Given the description of an element on the screen output the (x, y) to click on. 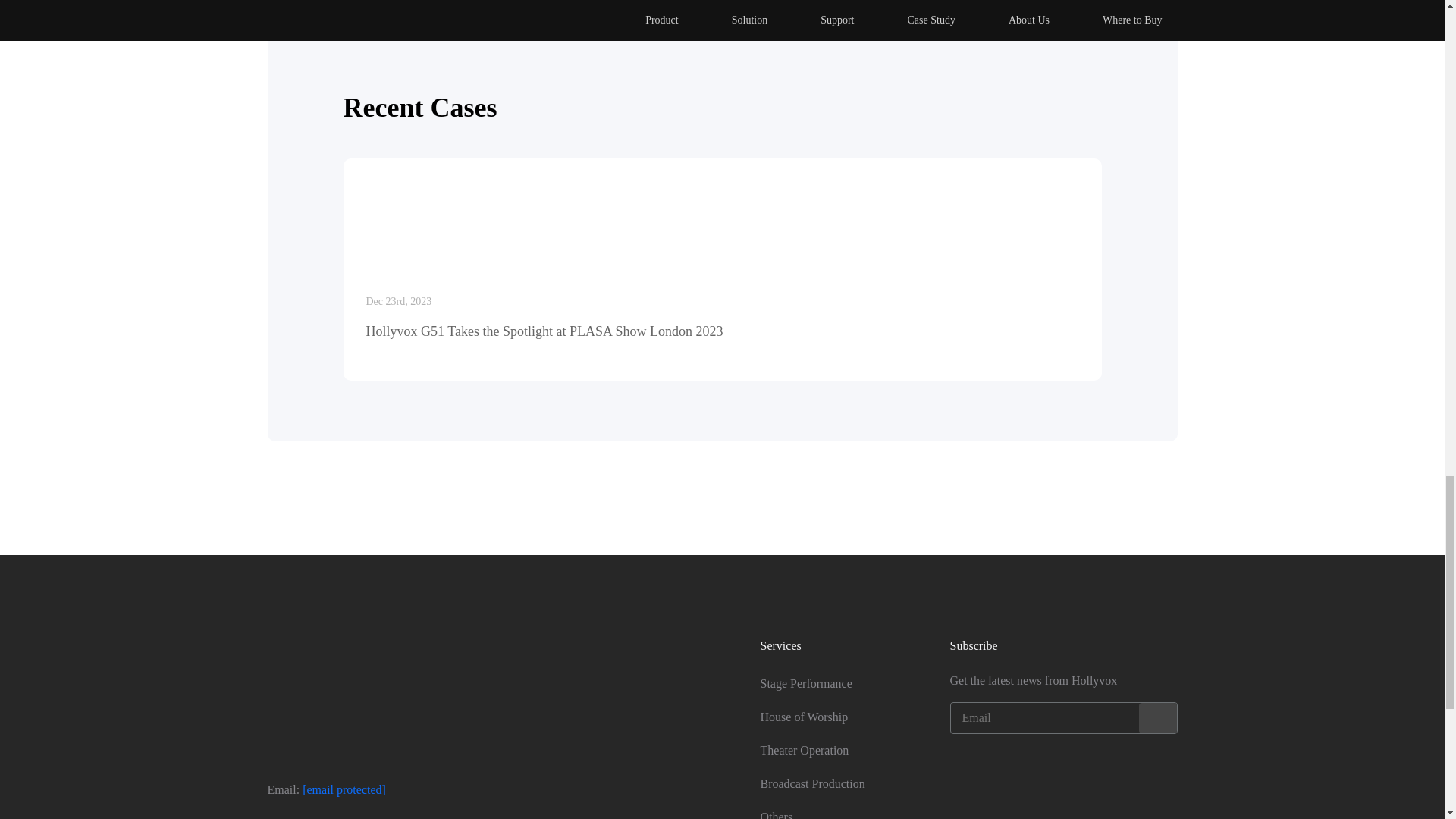
Stage Performance (805, 683)
Subscribe (1157, 717)
House of Worship (803, 716)
